Given the description of an element on the screen output the (x, y) to click on. 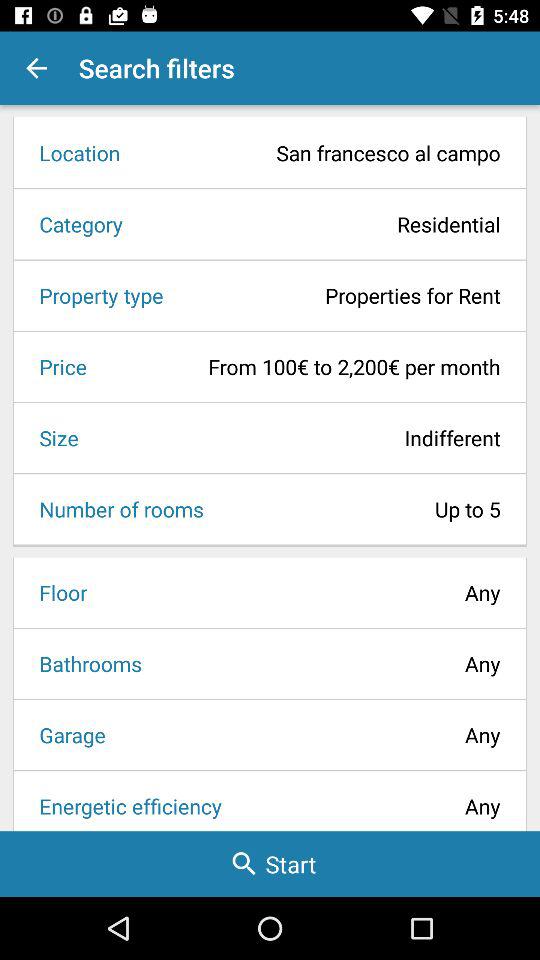
select item below the property type icon (56, 366)
